Given the description of an element on the screen output the (x, y) to click on. 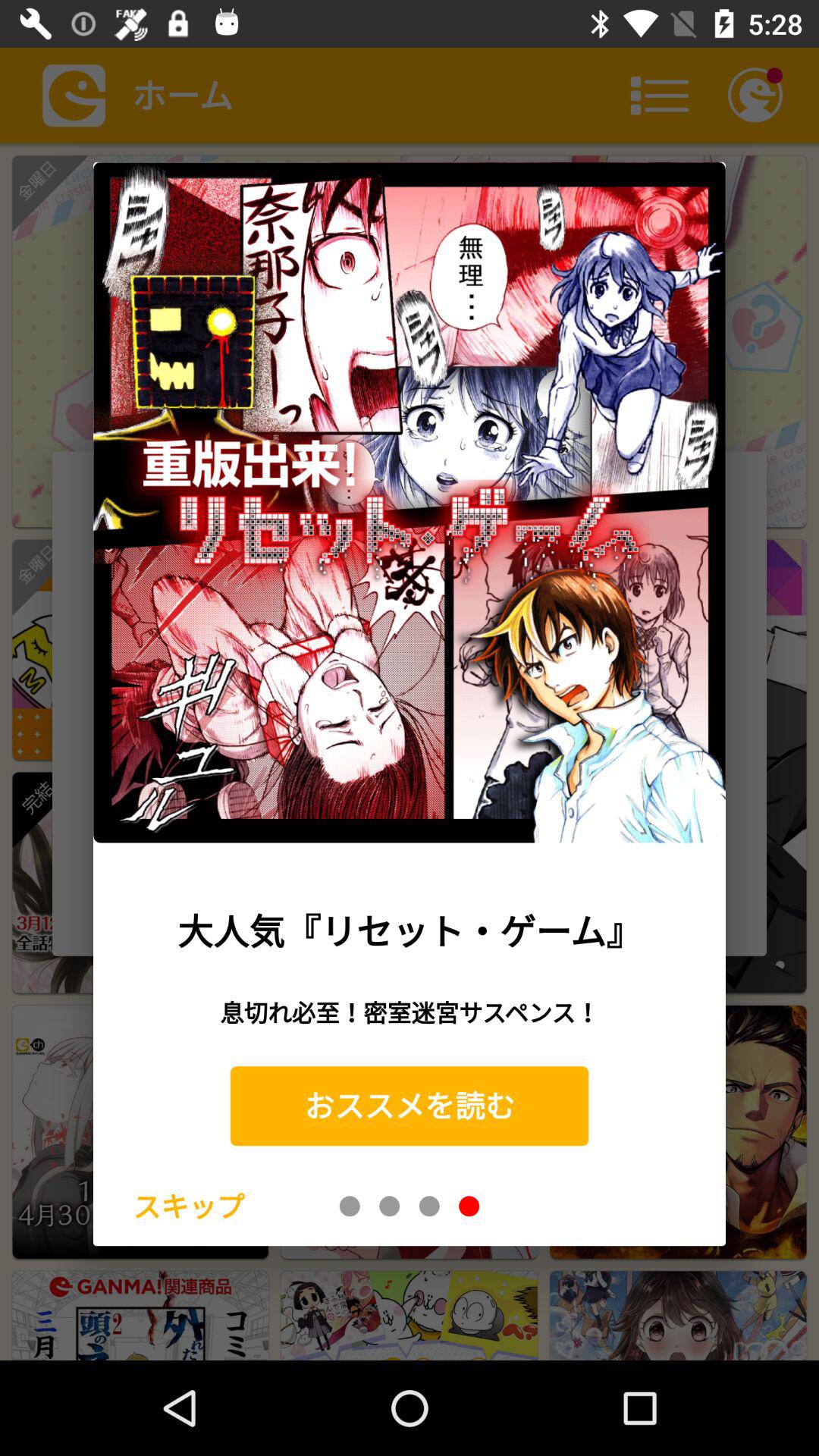
indicates which page is displayed (349, 1206)
